Given the description of an element on the screen output the (x, y) to click on. 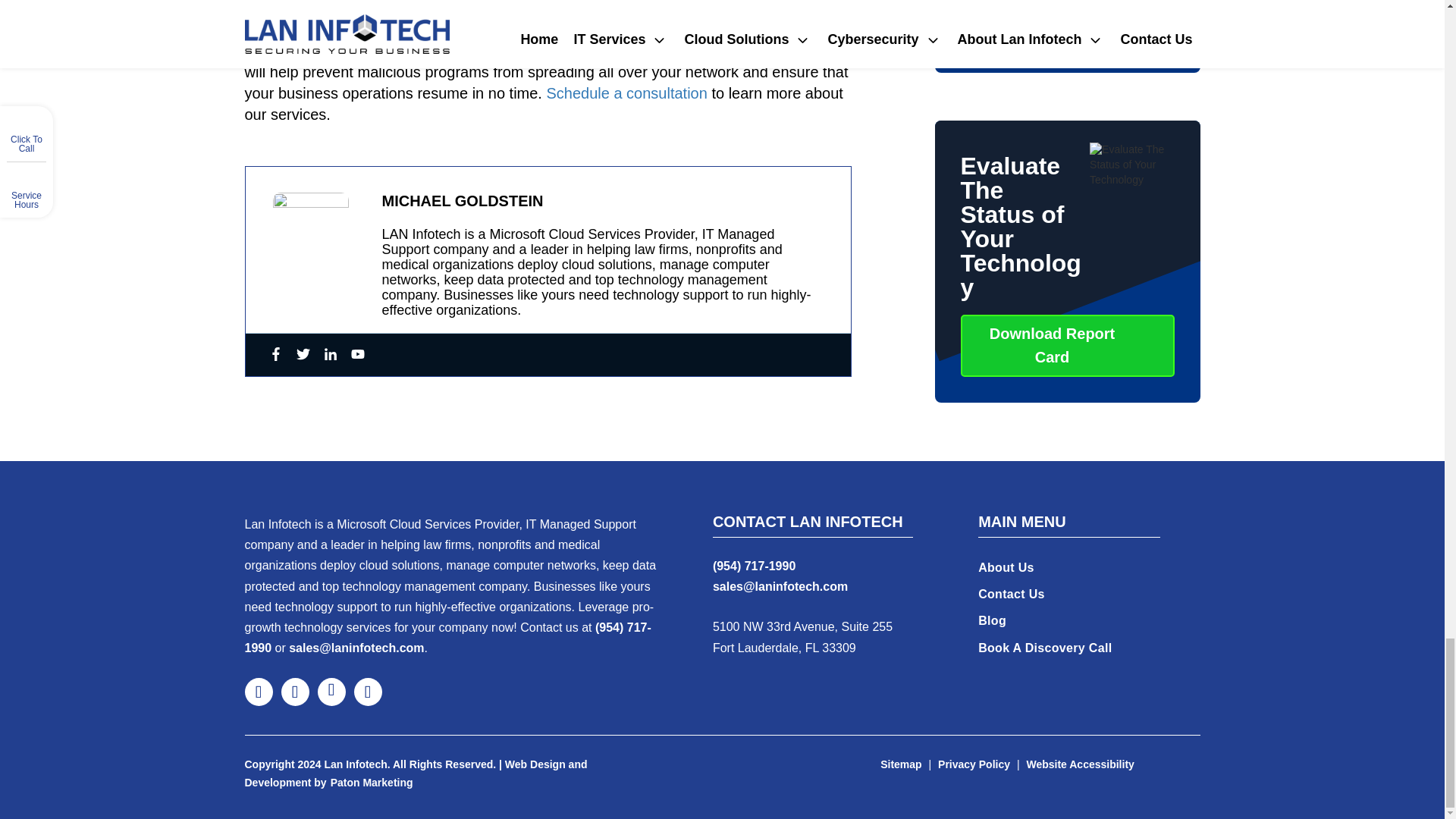
Twitter (301, 354)
Follow on Youtube (367, 691)
Youtube (357, 354)
Follow on X (294, 691)
Linkedin (329, 354)
Follow on Facebook (258, 691)
Facebook (274, 354)
Follow on LinkedIn (331, 691)
